Given the description of an element on the screen output the (x, y) to click on. 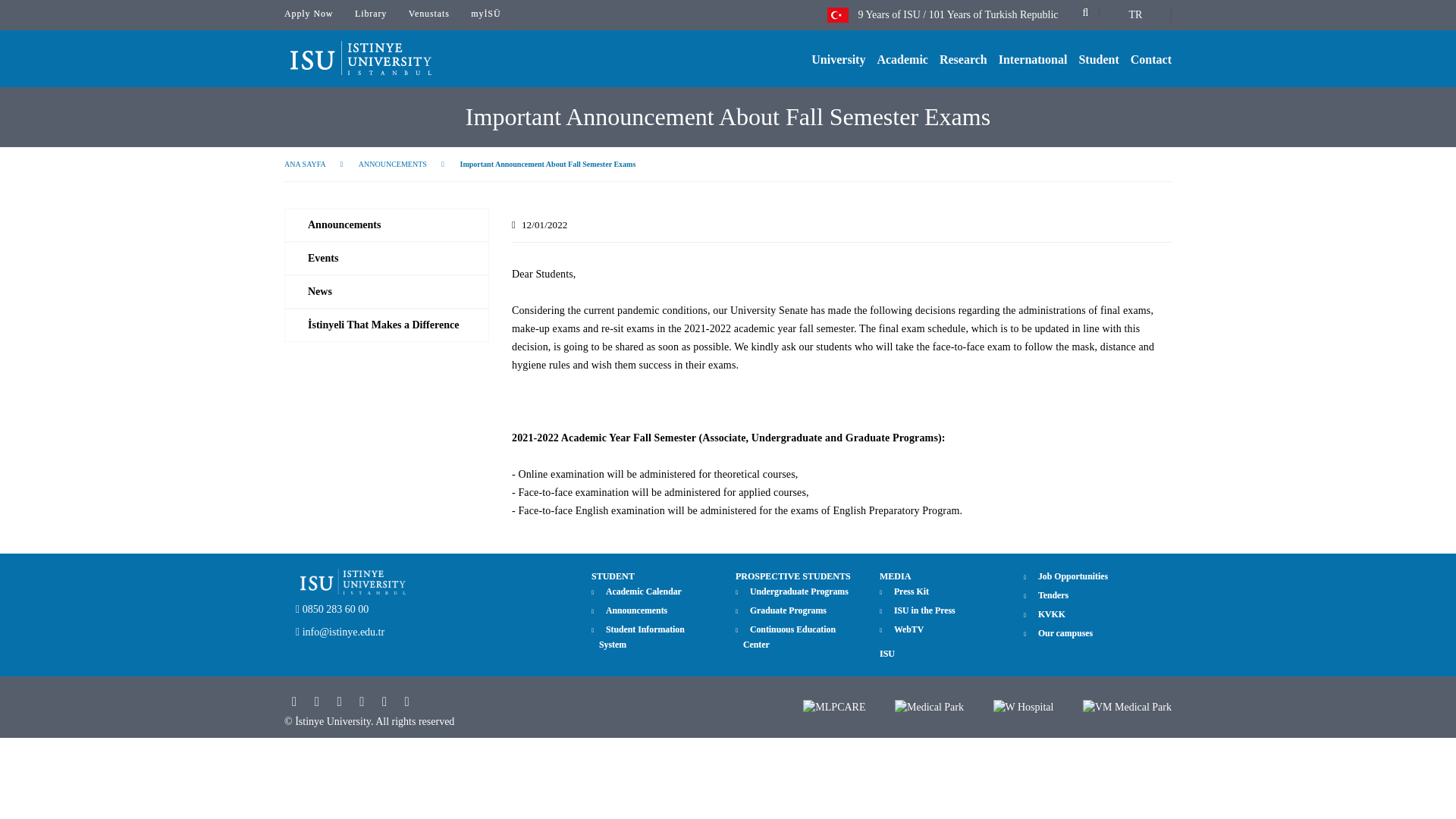
Apply Now (308, 15)
Academic (907, 51)
Venustats (429, 15)
University (843, 51)
Research (968, 51)
Student (1103, 51)
Library (371, 15)
TR (1135, 17)
Contact (1156, 51)
